Given the description of an element on the screen output the (x, y) to click on. 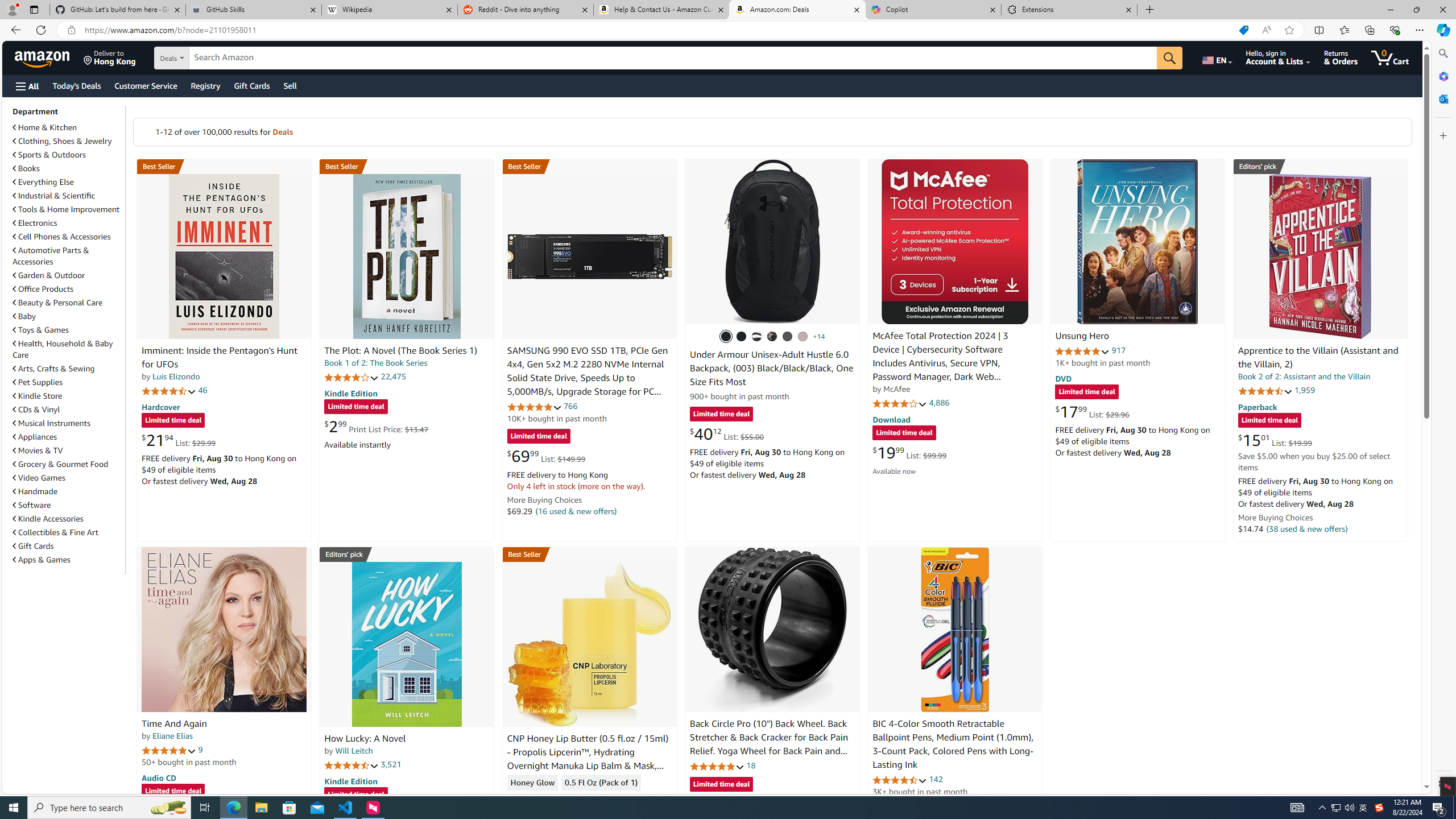
Software (31, 504)
Automotive Parts & Accessories (67, 255)
Time And Again (173, 723)
Hello, sign in Account & Lists (1278, 57)
Office Products (43, 289)
766 (570, 406)
The Plot: A Novel (The Book Series 1) (406, 256)
Appliances (34, 436)
9 (200, 749)
$17.99 List: $29.96 (1092, 411)
Apprentice to the Villain (Assistant and the Villain, 2) (1319, 256)
